Given the description of an element on the screen output the (x, y) to click on. 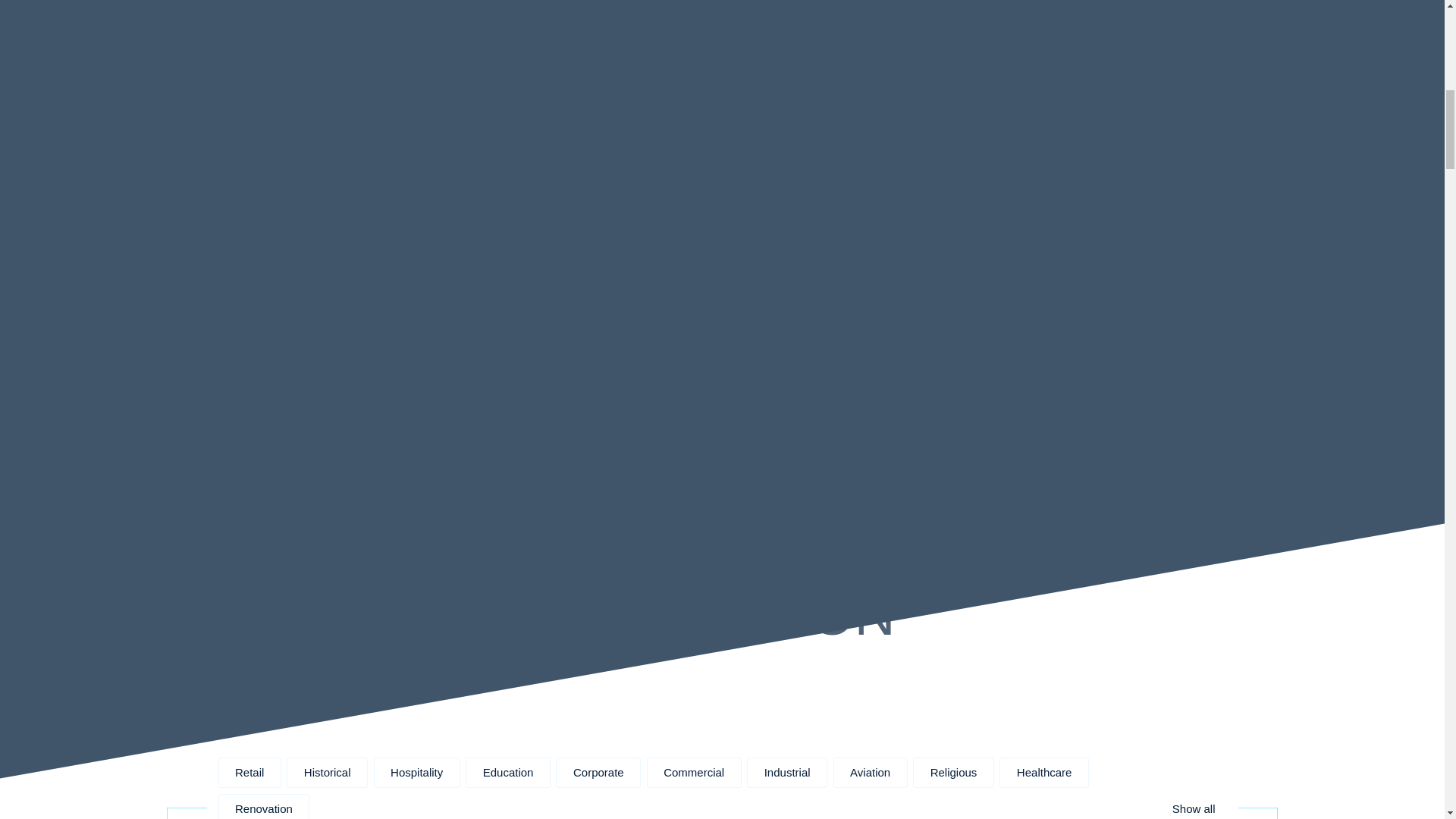
ALL PROJECTS (721, 440)
